Given the description of an element on the screen output the (x, y) to click on. 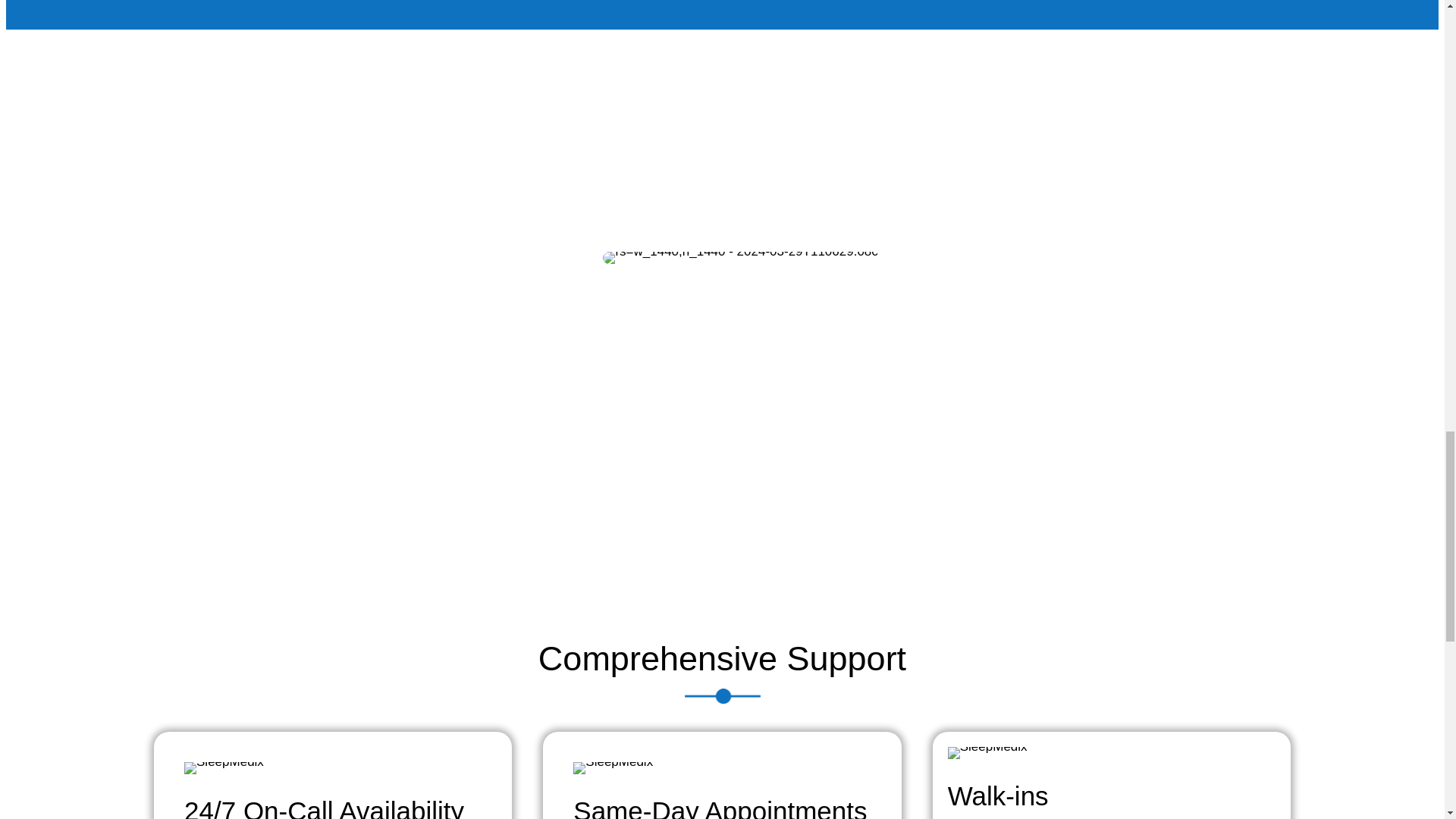
SleepMedix (223, 767)
SleepMedix (987, 752)
SleepMedix (612, 767)
